Given the description of an element on the screen output the (x, y) to click on. 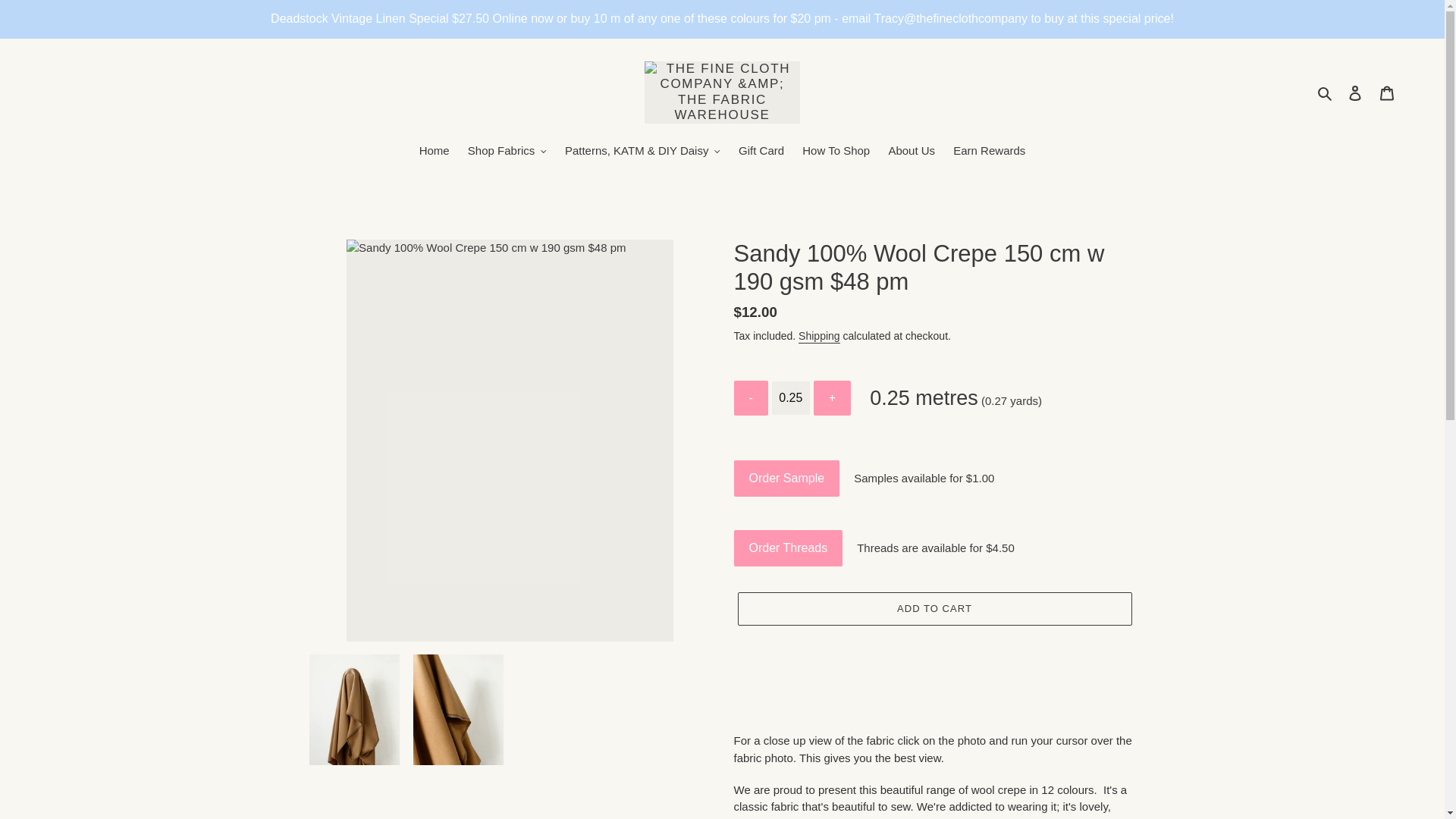
0.25 (790, 397)
Order Sample (786, 478)
Cart (1387, 92)
Log in (1355, 92)
Order Threads (788, 547)
Search (1326, 92)
- (750, 397)
